Given the description of an element on the screen output the (x, y) to click on. 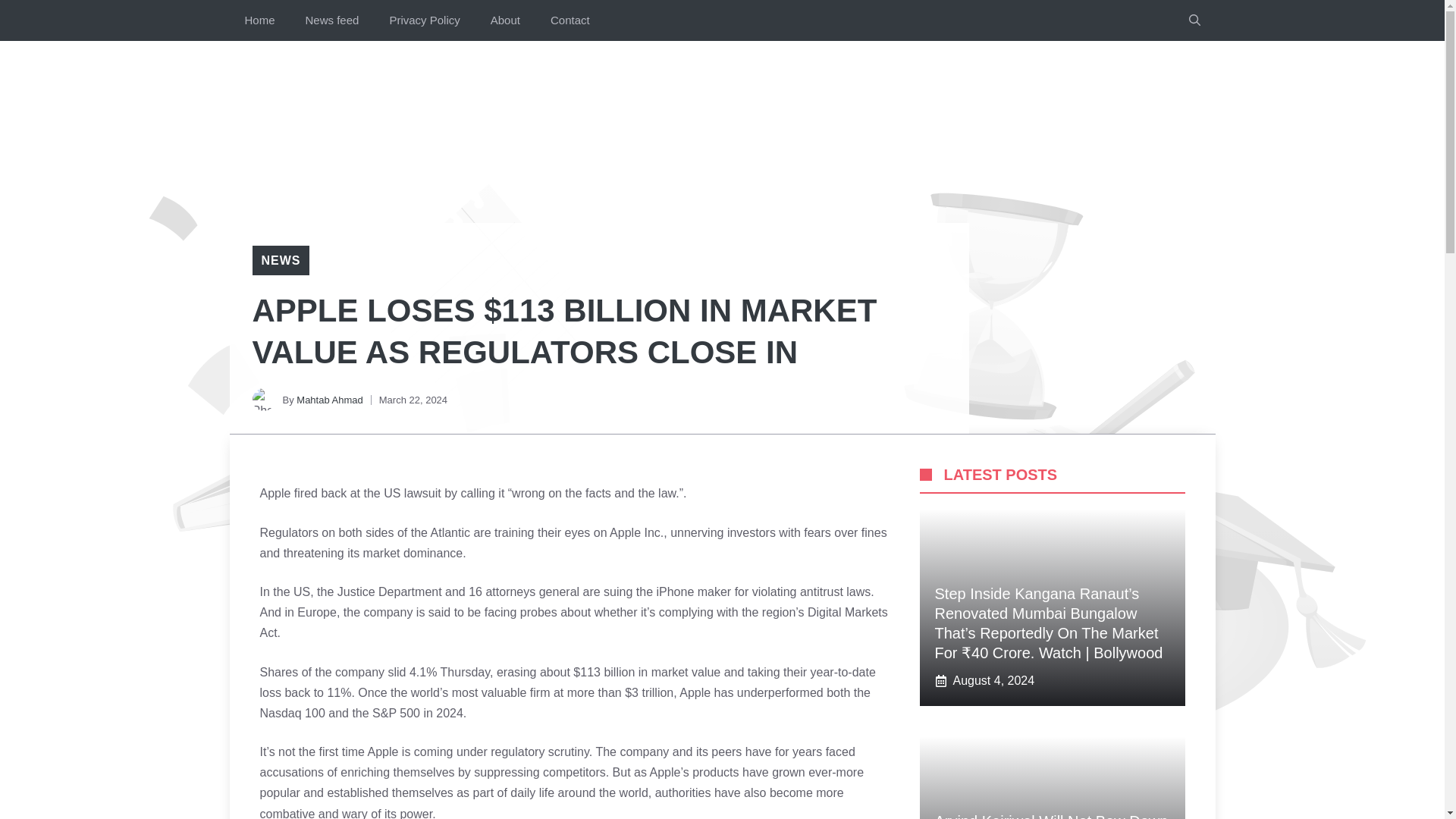
Contact (570, 20)
Mahtab Ahmad (329, 399)
Home (258, 20)
NEWS (279, 259)
Privacy Policy (424, 20)
About (505, 20)
News feed (331, 20)
